Given the description of an element on the screen output the (x, y) to click on. 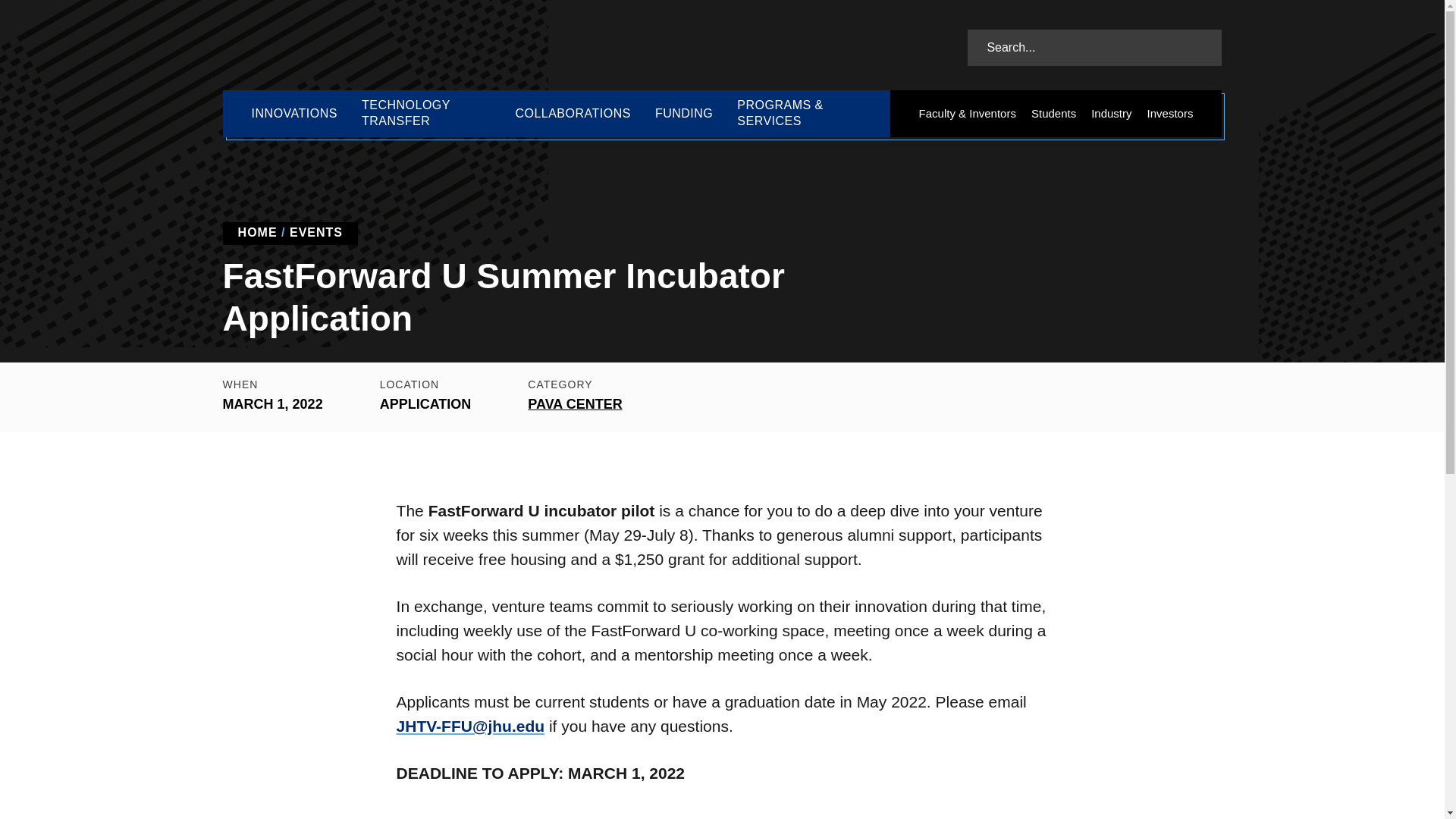
Rivier University (333, 45)
FUNDING (684, 113)
HOME (258, 232)
INNOVATIONS (294, 113)
TECHNOLOGY TRANSFER (425, 113)
COLLABORATIONS (572, 113)
Students (1053, 113)
Industry (1110, 113)
Investors (1170, 113)
